Given the description of an element on the screen output the (x, y) to click on. 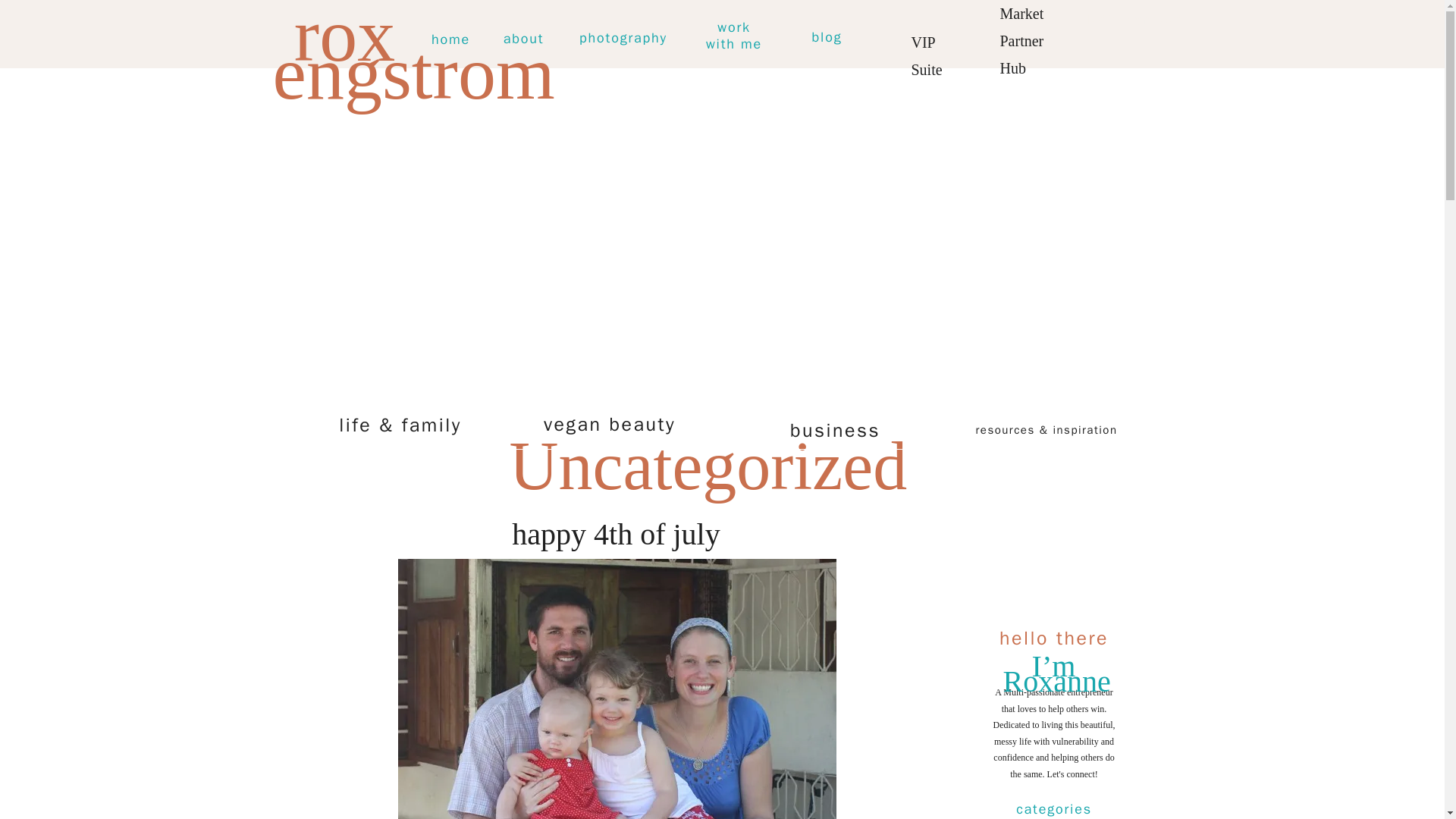
home (733, 37)
Uncategorized (450, 39)
vegan beauty (708, 465)
photography (608, 423)
blog (623, 38)
VIP Suite (826, 37)
business (936, 37)
let's connect (834, 430)
about (1139, 29)
Market Partner Hub (524, 39)
